Given the description of an element on the screen output the (x, y) to click on. 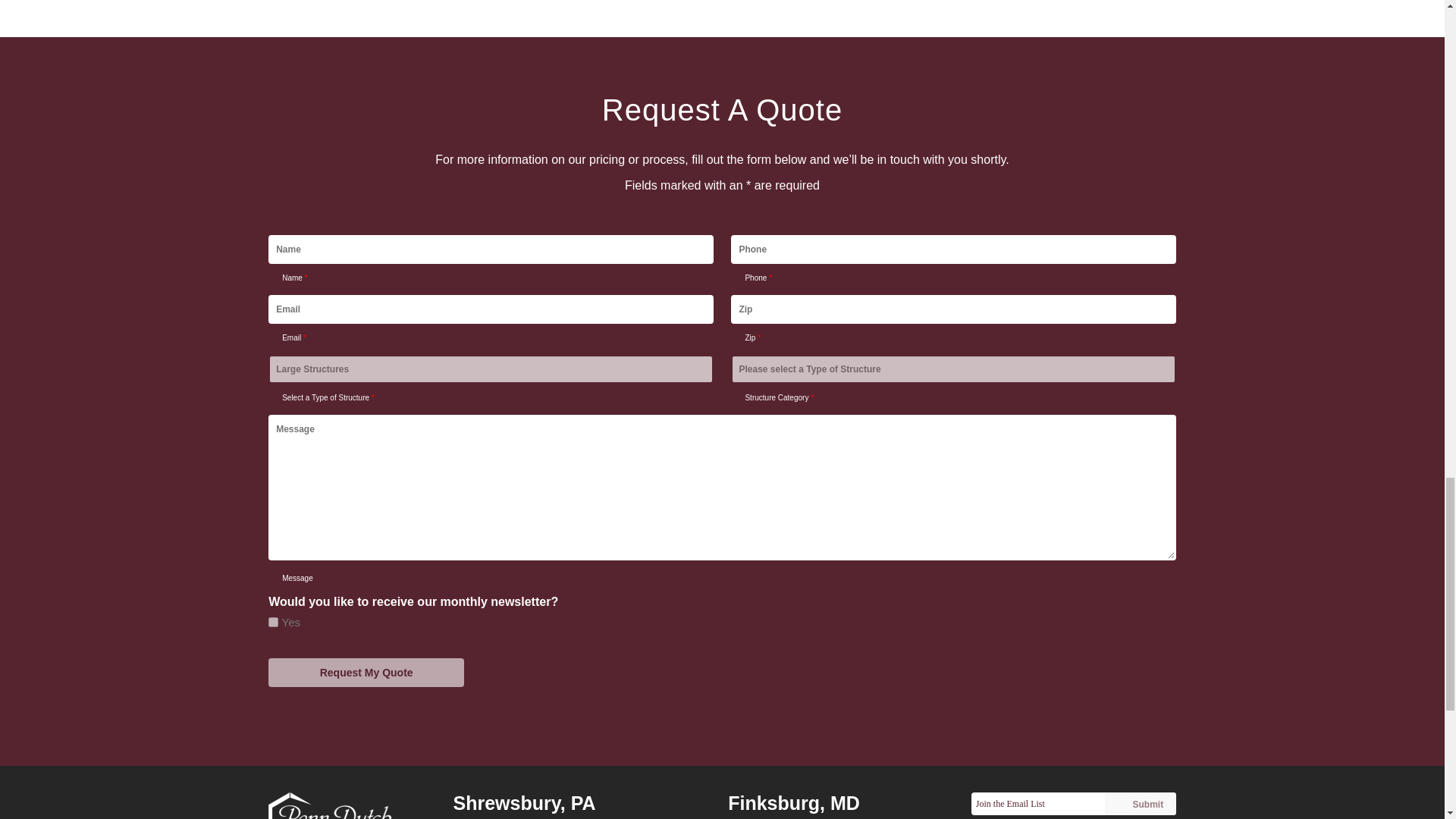
Request My Quote (365, 672)
Yes (272, 622)
Submit (1140, 803)
